Given the description of an element on the screen output the (x, y) to click on. 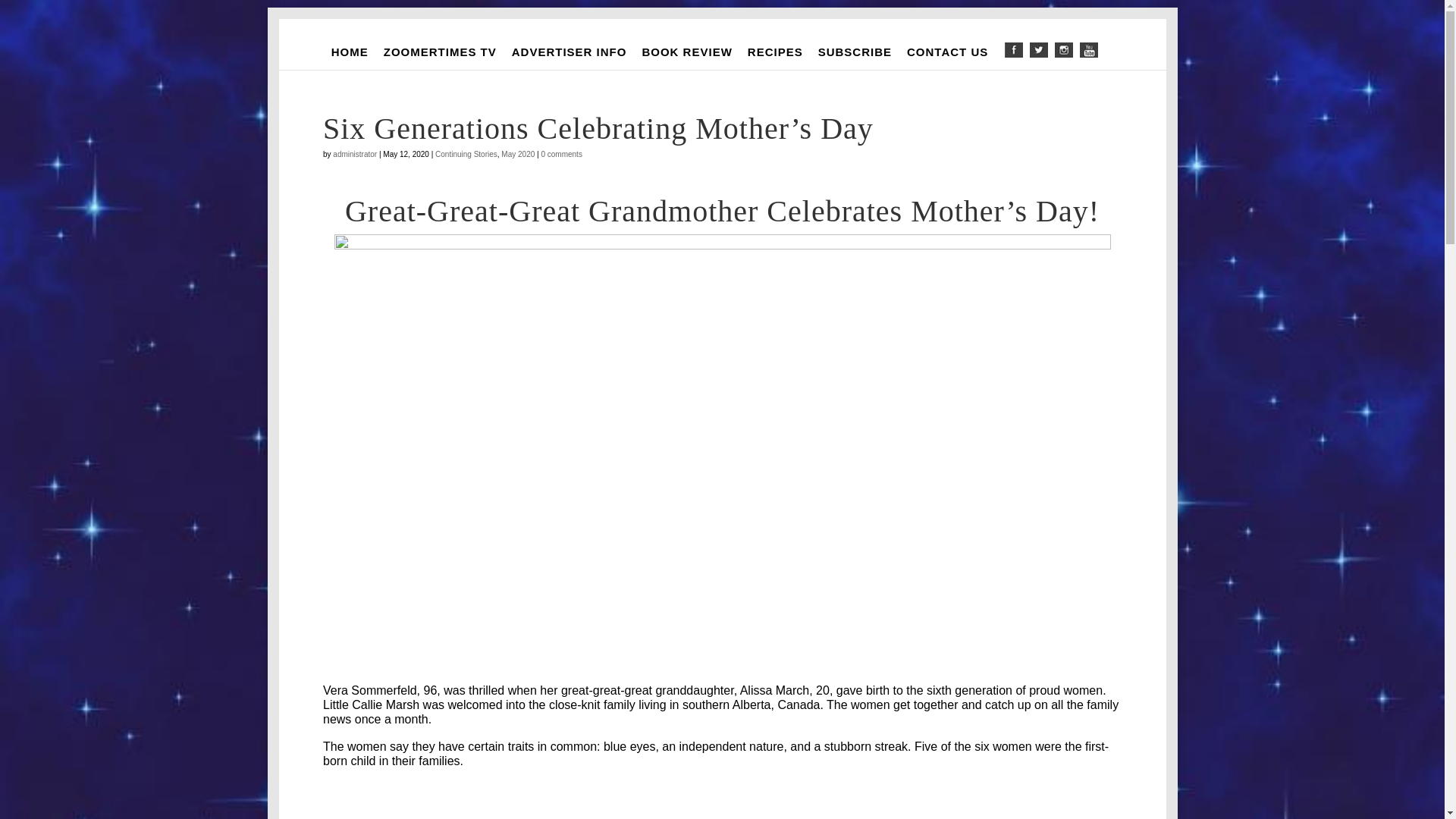
ZOOMERTIMES TV (439, 52)
May 2020 (517, 153)
CONTACT US (947, 52)
HOME (349, 52)
Posts by administrator (355, 153)
SUBSCRIBE (854, 52)
BOOK REVIEW (686, 52)
RECIPES (774, 52)
ADVERTISER INFO (568, 52)
Continuing Stories (466, 153)
